Given the description of an element on the screen output the (x, y) to click on. 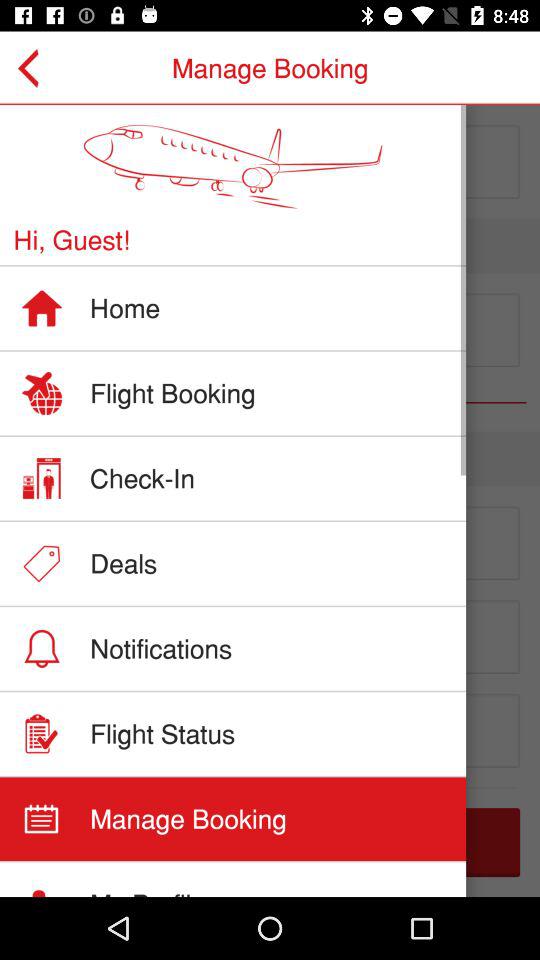
select the text and symbol which is immediately below deals (269, 653)
